Given the description of an element on the screen output the (x, y) to click on. 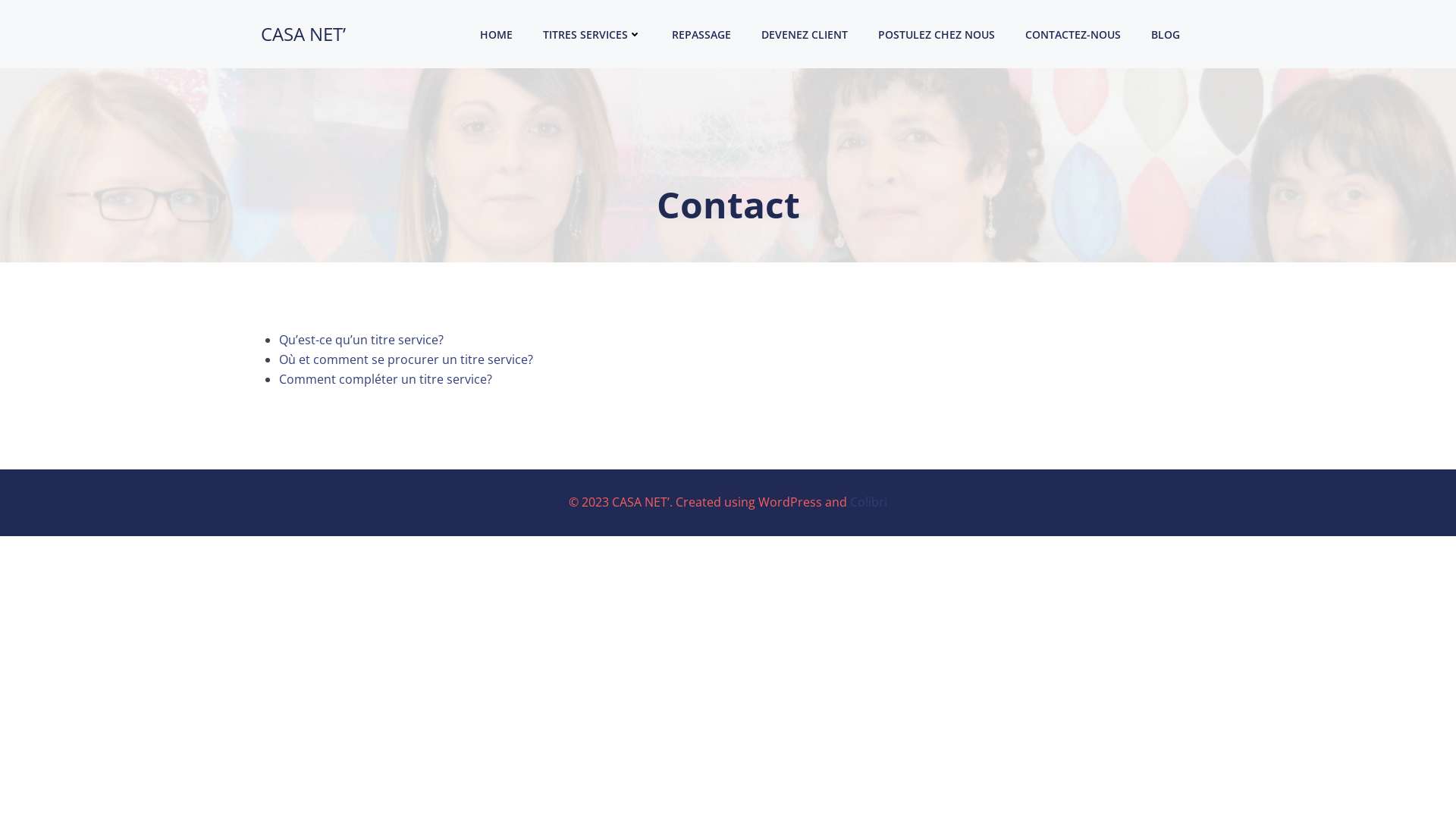
HOME Element type: text (496, 33)
TITRES SERVICES Element type: text (591, 33)
REPASSAGE Element type: text (701, 33)
DEVENEZ CLIENT Element type: text (804, 33)
Colibri Element type: text (868, 501)
CONTACTEZ-NOUS Element type: text (1072, 33)
BLOG Element type: text (1165, 33)
POSTULEZ CHEZ NOUS Element type: text (936, 33)
